Given the description of an element on the screen output the (x, y) to click on. 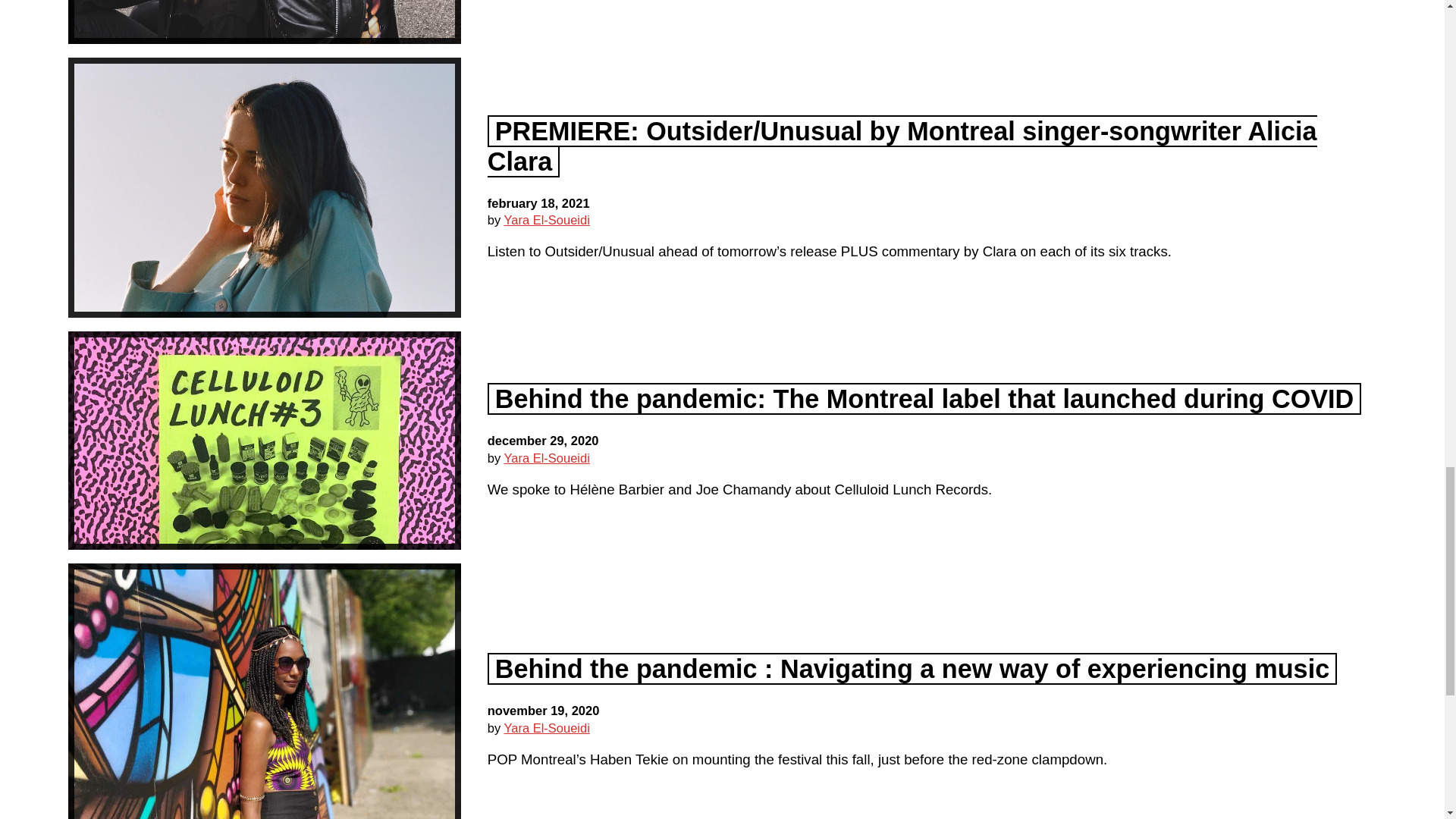
Yara El-Soueidi (546, 219)
